Given the description of an element on the screen output the (x, y) to click on. 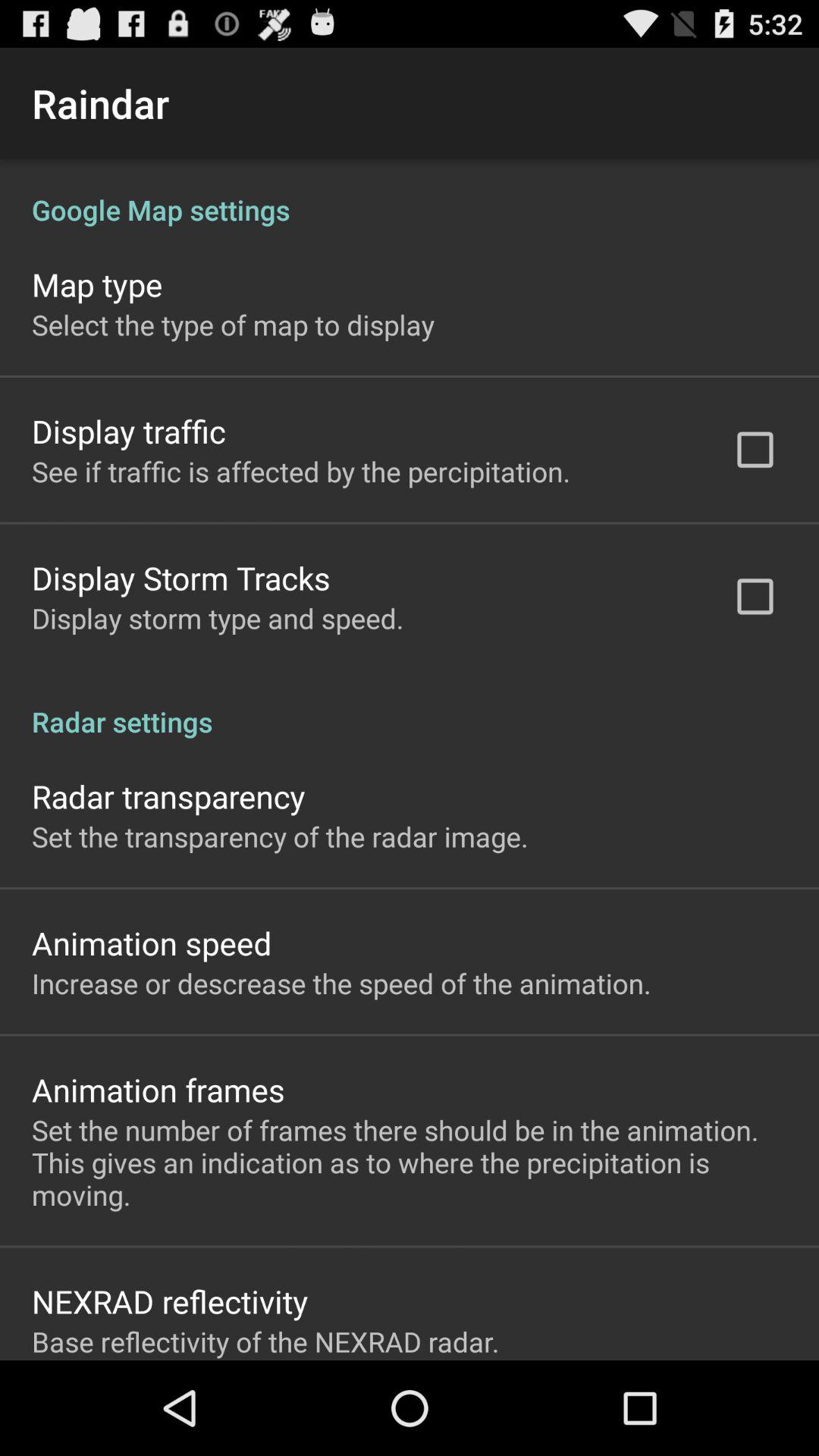
launch the item below nexrad reflectivity app (265, 1341)
